Given the description of an element on the screen output the (x, y) to click on. 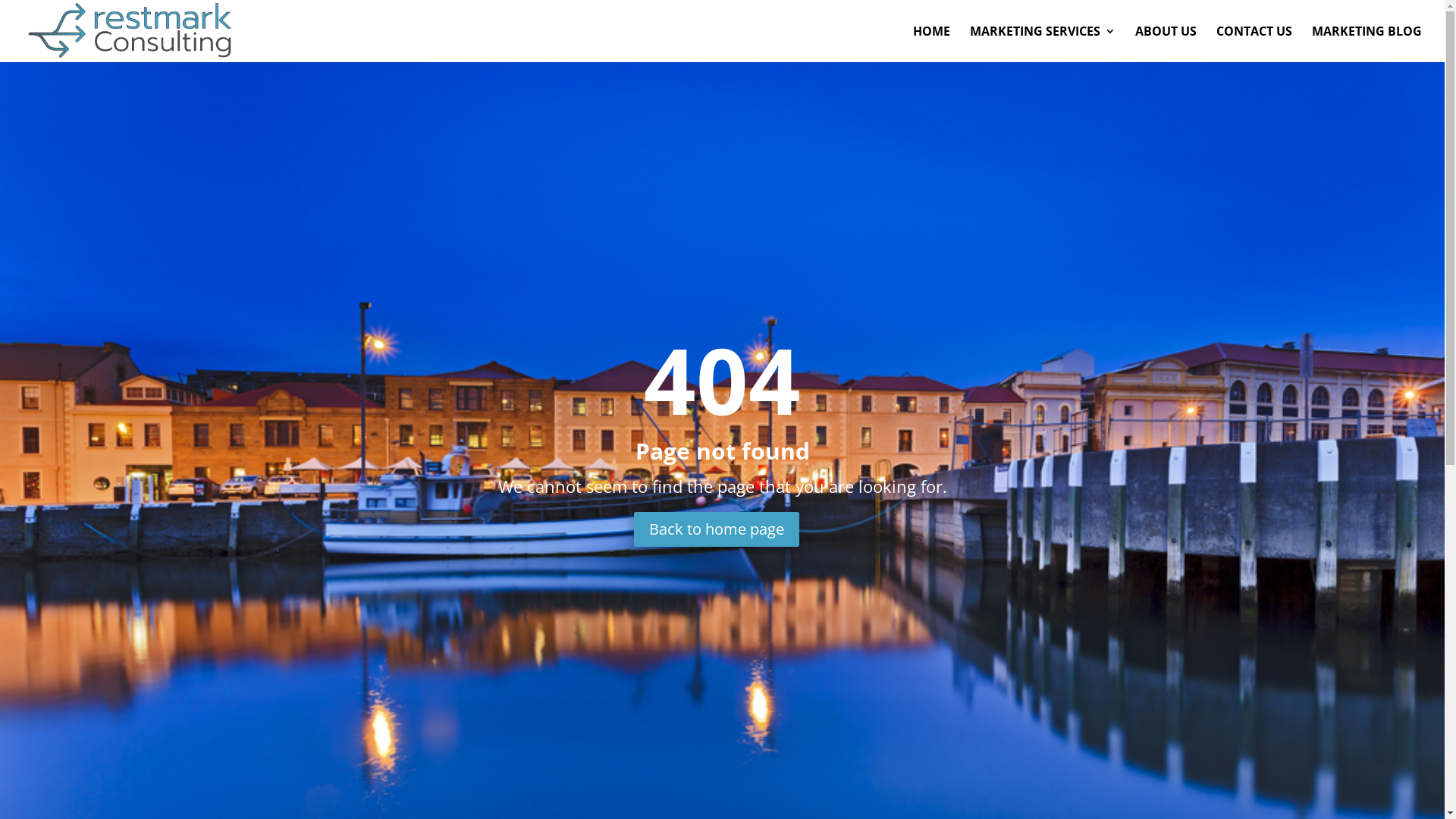
CONTACT US Element type: text (1254, 43)
MARKETING SERVICES Element type: text (1042, 43)
ABOUT US Element type: text (1165, 43)
HOME Element type: text (931, 43)
Back to home page Element type: text (716, 528)
MARKETING BLOG Element type: text (1366, 43)
